Given the description of an element on the screen output the (x, y) to click on. 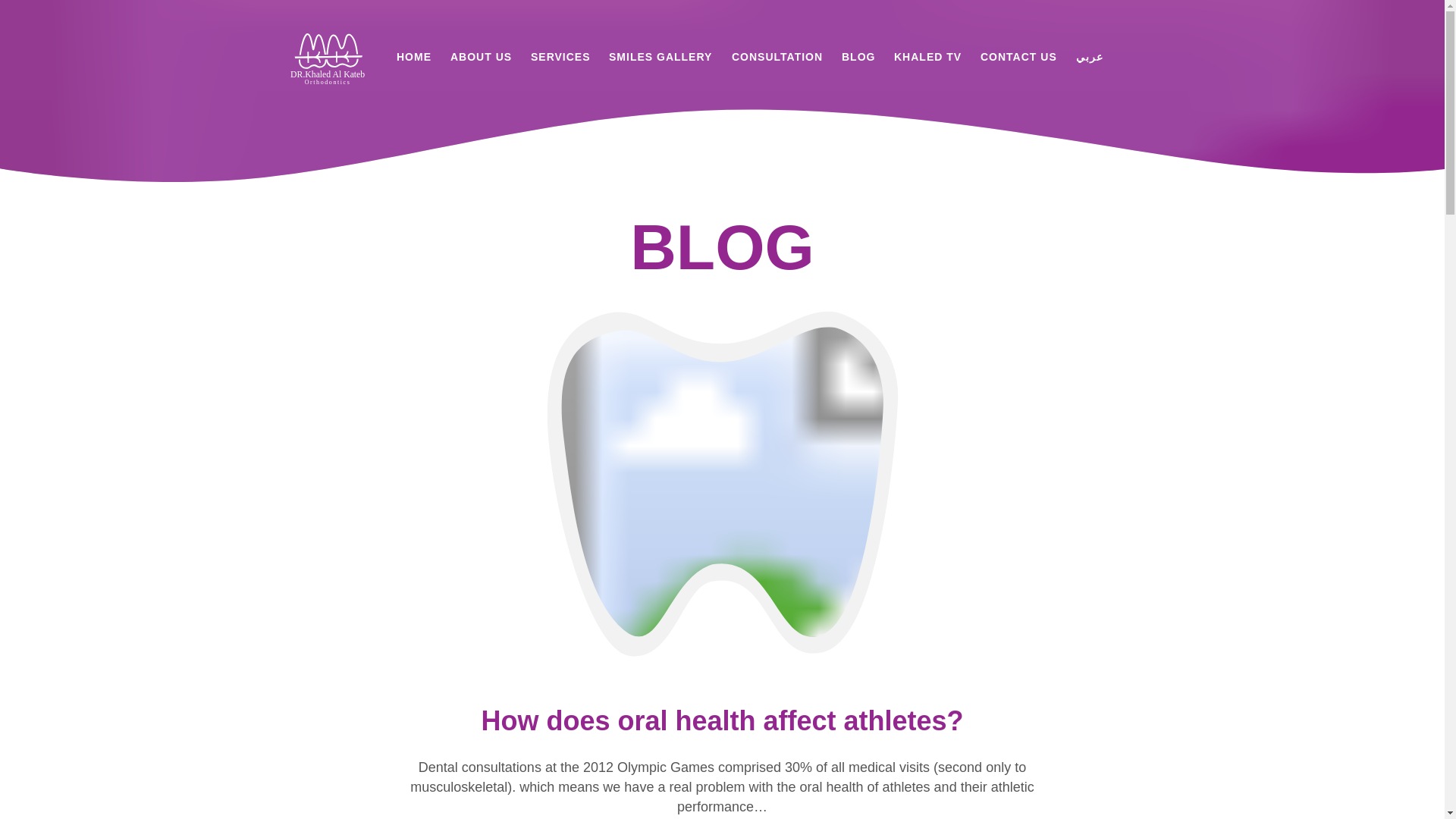
SMILES GALLERY (659, 56)
Home (327, 59)
HOME (413, 56)
SERVICES (561, 56)
ABOUT US (480, 56)
CONTACT US (1018, 56)
KHALED TV (926, 56)
CONSULTATION (777, 56)
